Given the description of an element on the screen output the (x, y) to click on. 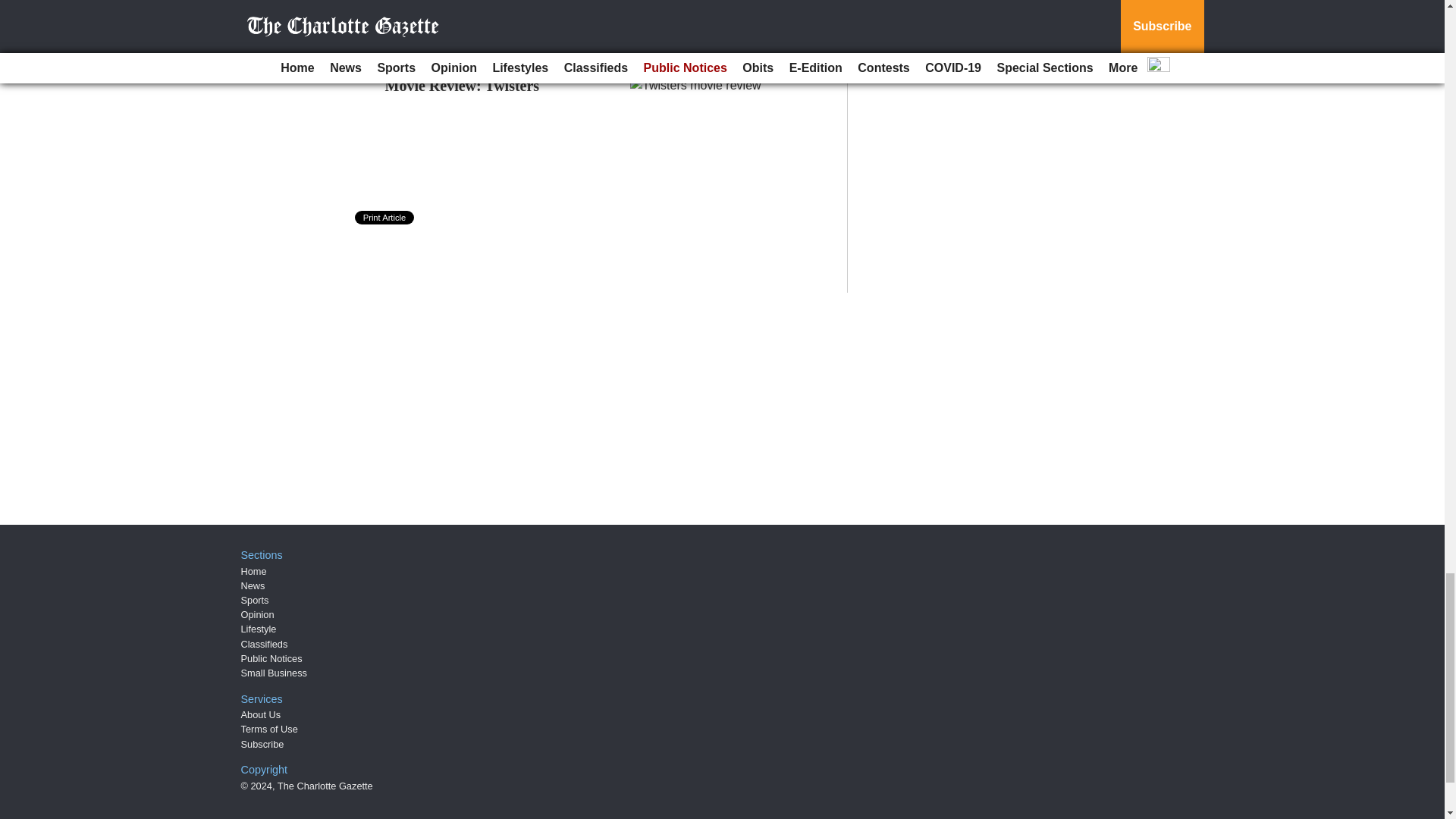
Print Article (384, 217)
Movie Review: Twisters (462, 85)
Movie Review: Twisters (462, 85)
